Given the description of an element on the screen output the (x, y) to click on. 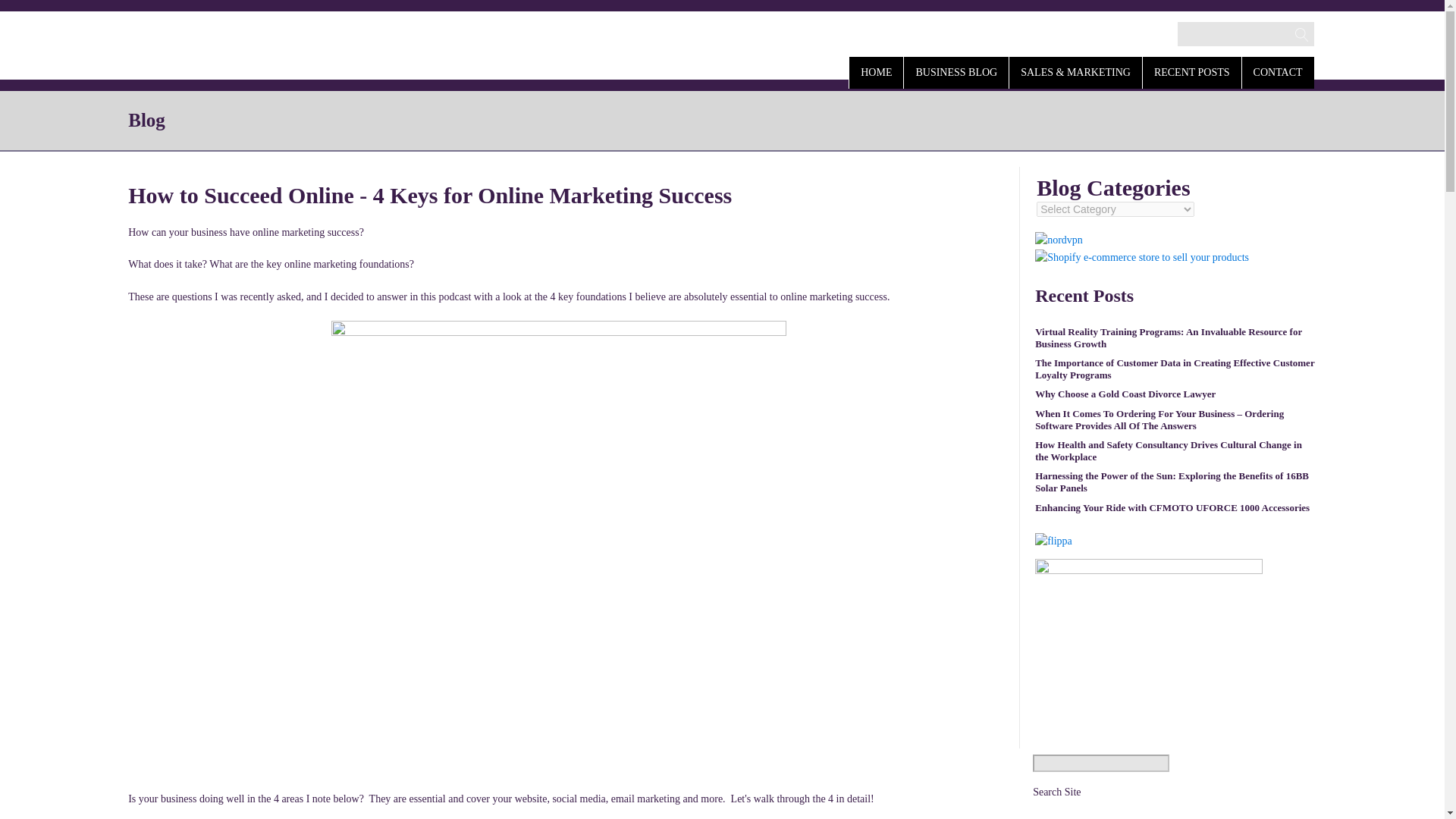
Search (27, 12)
BUSINESS BLOG (956, 71)
HOME (875, 71)
